Given the description of an element on the screen output the (x, y) to click on. 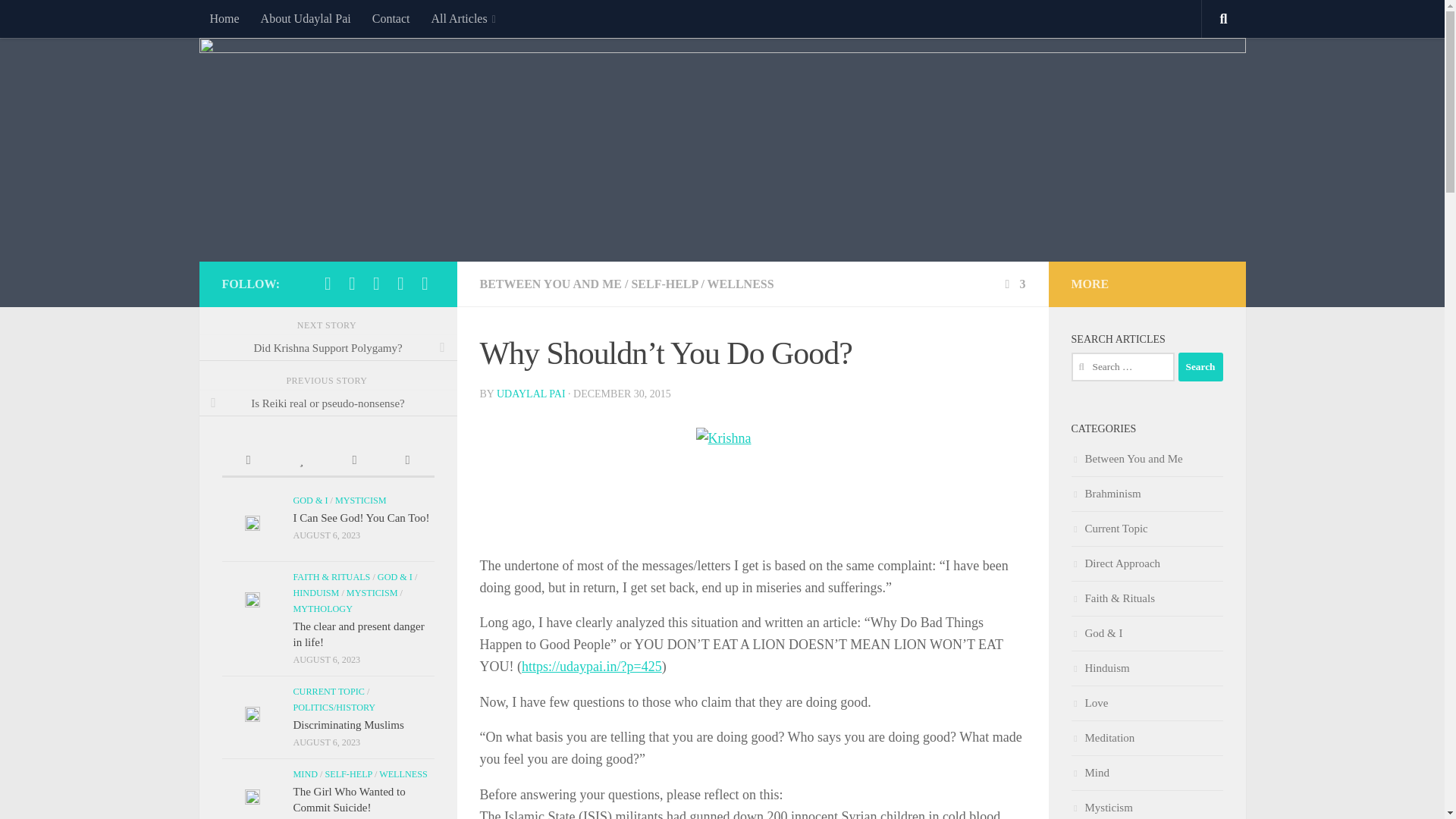
Follow us on Facebook-square (327, 283)
About Udaylal Pai (305, 18)
Skip to content (59, 20)
Posts by Udaylal Pai (531, 393)
Follow us on Linkedin-square (375, 283)
Follow us on Google-plus-square (423, 283)
Follow us on Twitter (351, 283)
Home (223, 18)
Contact (390, 18)
All Articles (462, 18)
